Given the description of an element on the screen output the (x, y) to click on. 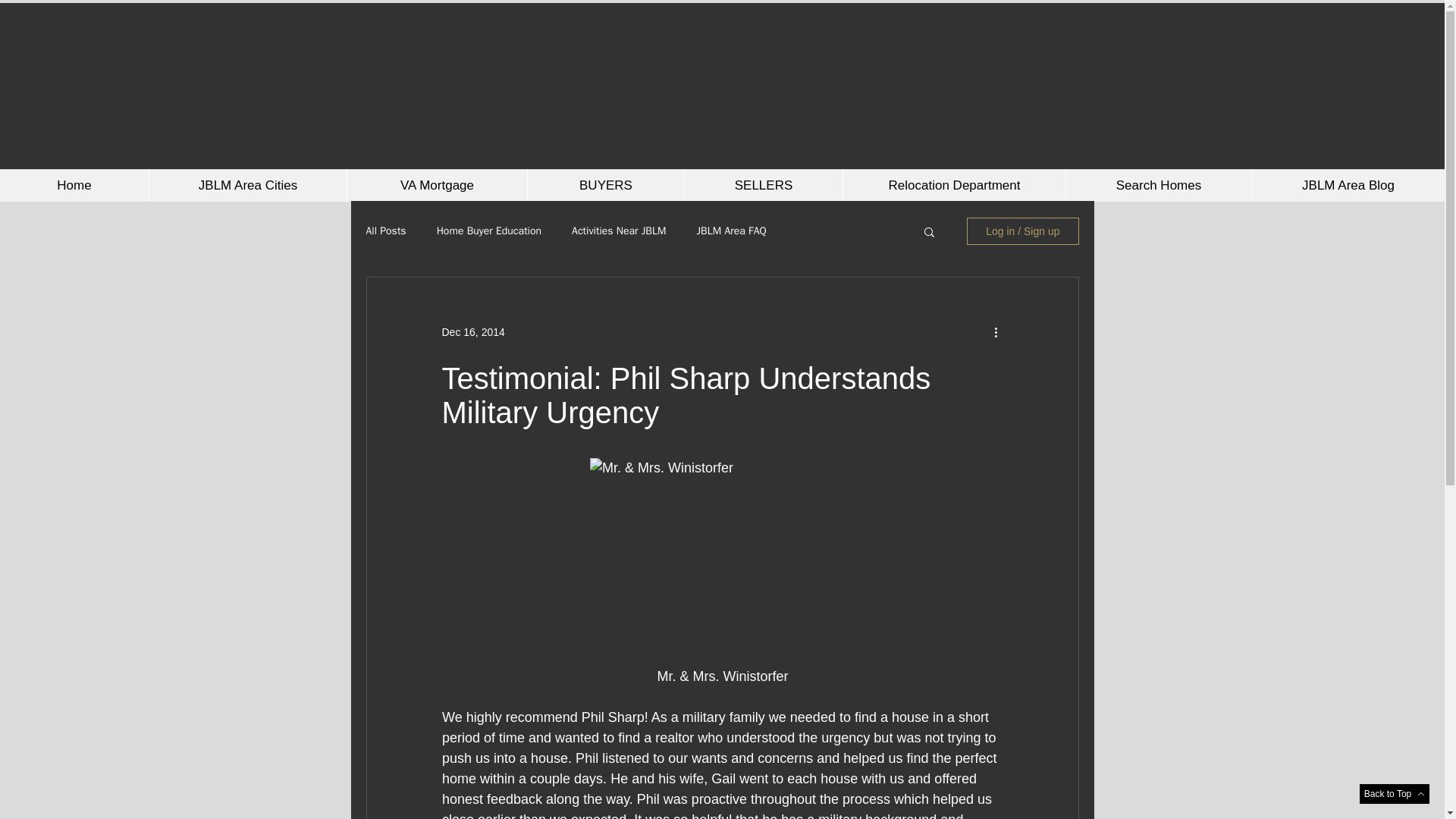
All Posts (385, 231)
SELLERS (763, 185)
JBLM Area Cities (247, 185)
Home (74, 185)
BUYERS (605, 185)
Home Buyer Education (488, 231)
Activities Near JBLM (618, 231)
Relocation Department (954, 185)
JBLM Area FAQ (730, 231)
Dec 16, 2014 (472, 331)
